Given the description of an element on the screen output the (x, y) to click on. 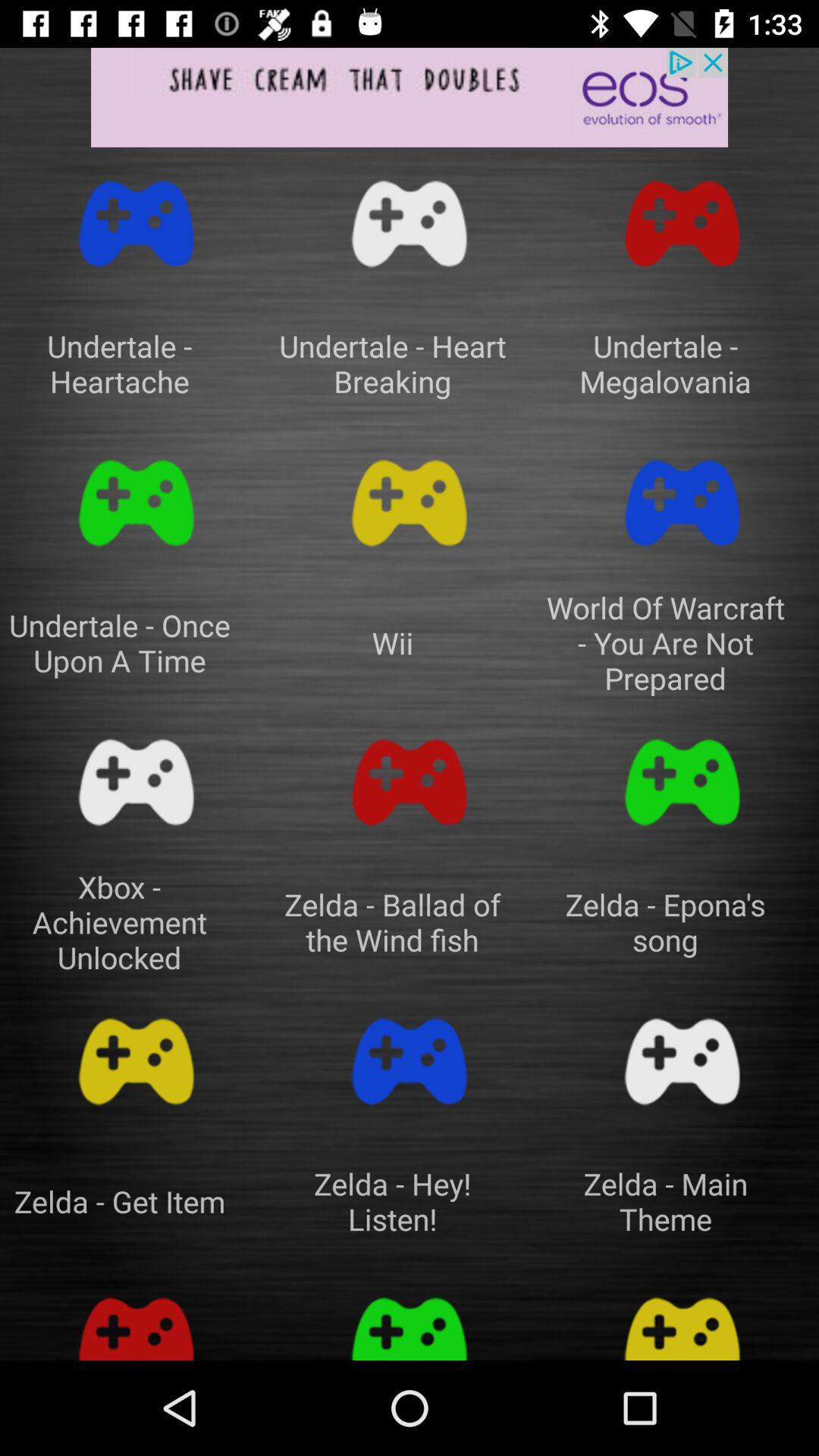
select tone (409, 1061)
